Given the description of an element on the screen output the (x, y) to click on. 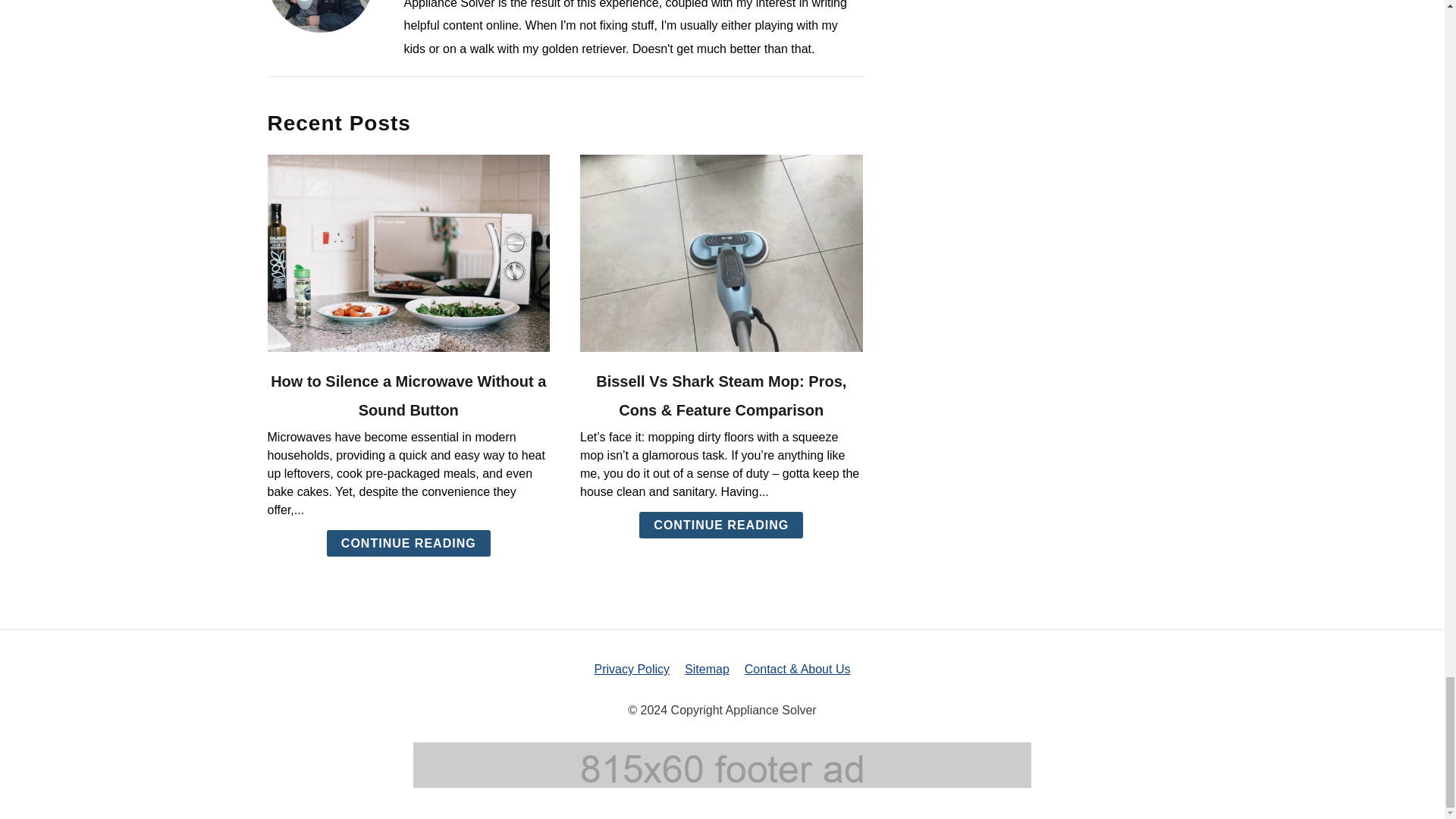
link to How to Silence a Microwave Without a Sound Button (408, 253)
How to Silence a Microwave Without a Sound Button (408, 395)
CONTINUE READING (408, 542)
